Given the description of an element on the screen output the (x, y) to click on. 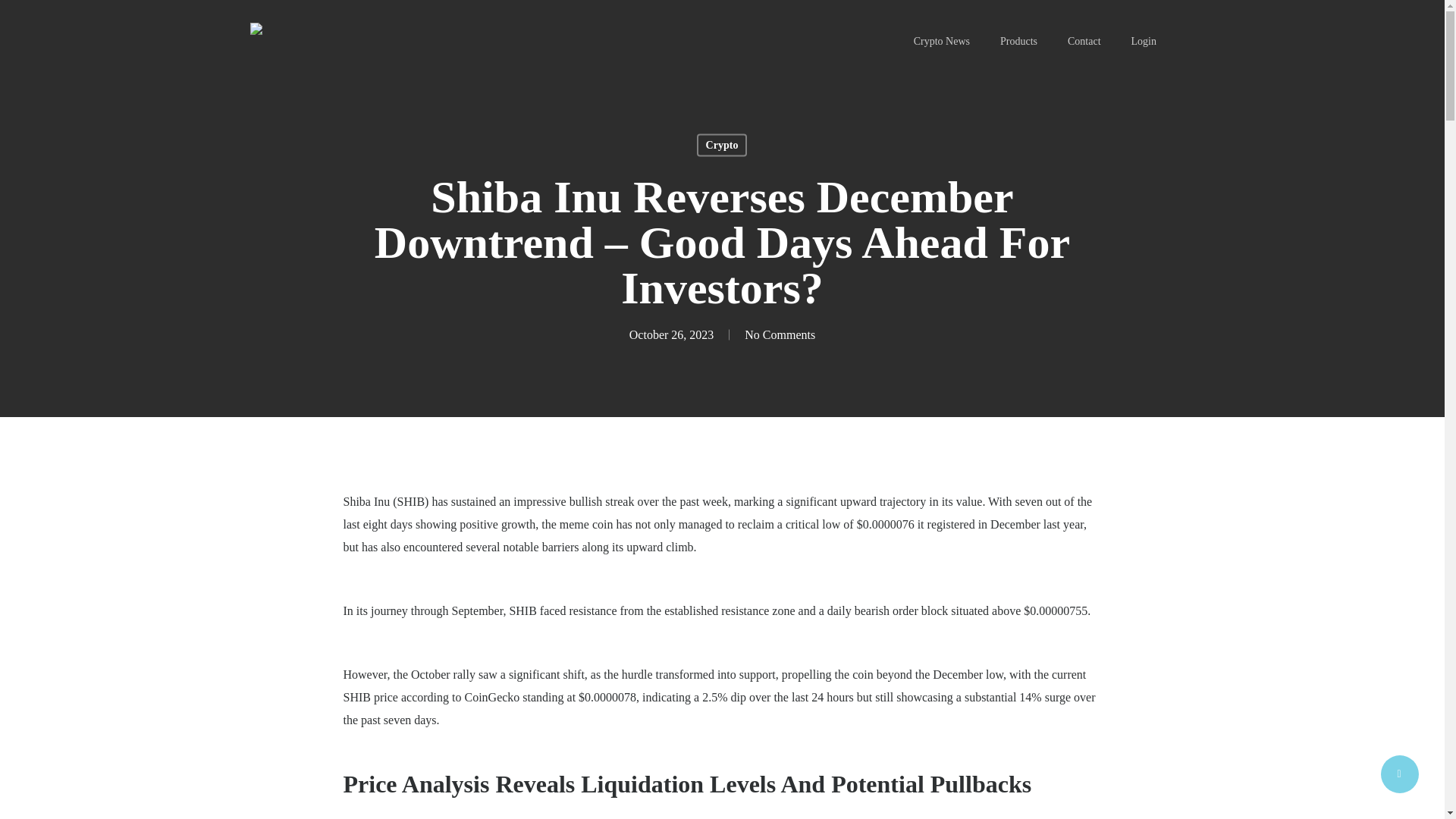
Crypto (722, 144)
Login (1143, 41)
Products (1018, 41)
Contact (1083, 41)
Crypto News (941, 41)
No Comments (779, 333)
